Given the description of an element on the screen output the (x, y) to click on. 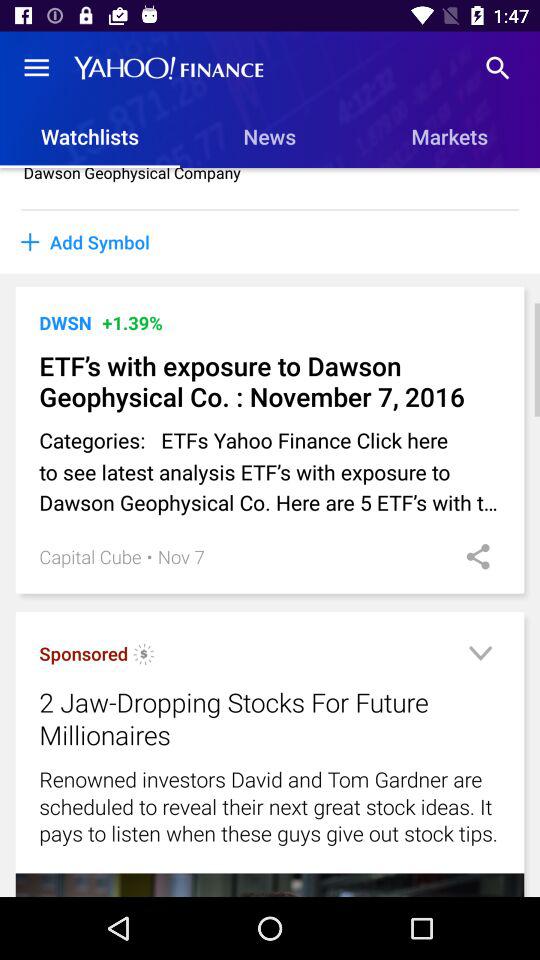
choose capital cube (90, 556)
